Given the description of an element on the screen output the (x, y) to click on. 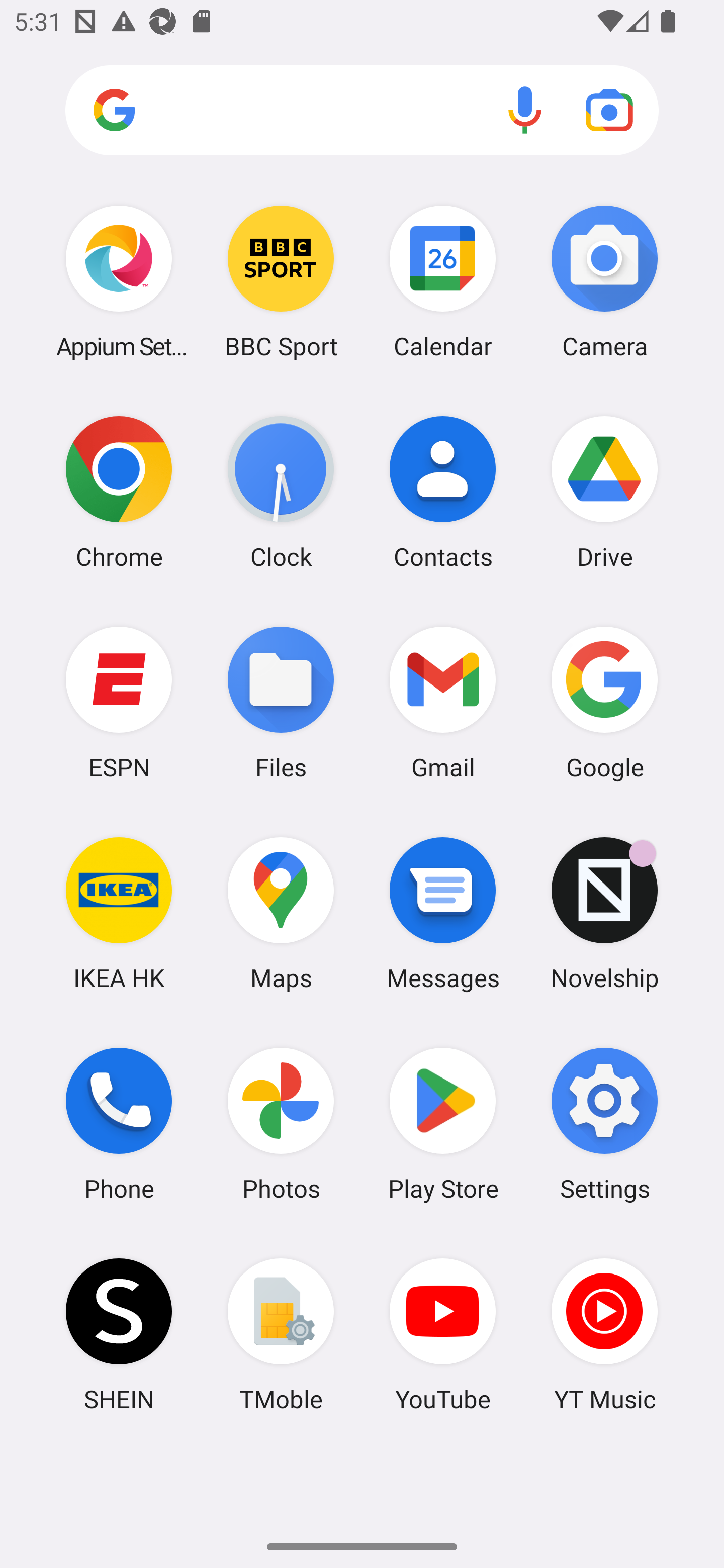
Search apps, web and more (361, 110)
Voice search (524, 109)
Google Lens (608, 109)
Appium Settings (118, 281)
BBC Sport (280, 281)
Calendar (443, 281)
Camera (604, 281)
Chrome (118, 492)
Clock (280, 492)
Contacts (443, 492)
Drive (604, 492)
ESPN (118, 702)
Files (280, 702)
Gmail (443, 702)
Google (604, 702)
IKEA HK (118, 913)
Maps (280, 913)
Messages (443, 913)
Novelship Novelship has 1 notification (604, 913)
Phone (118, 1124)
Photos (280, 1124)
Play Store (443, 1124)
Settings (604, 1124)
SHEIN (118, 1334)
TMoble (280, 1334)
YouTube (443, 1334)
YT Music (604, 1334)
